Given the description of an element on the screen output the (x, y) to click on. 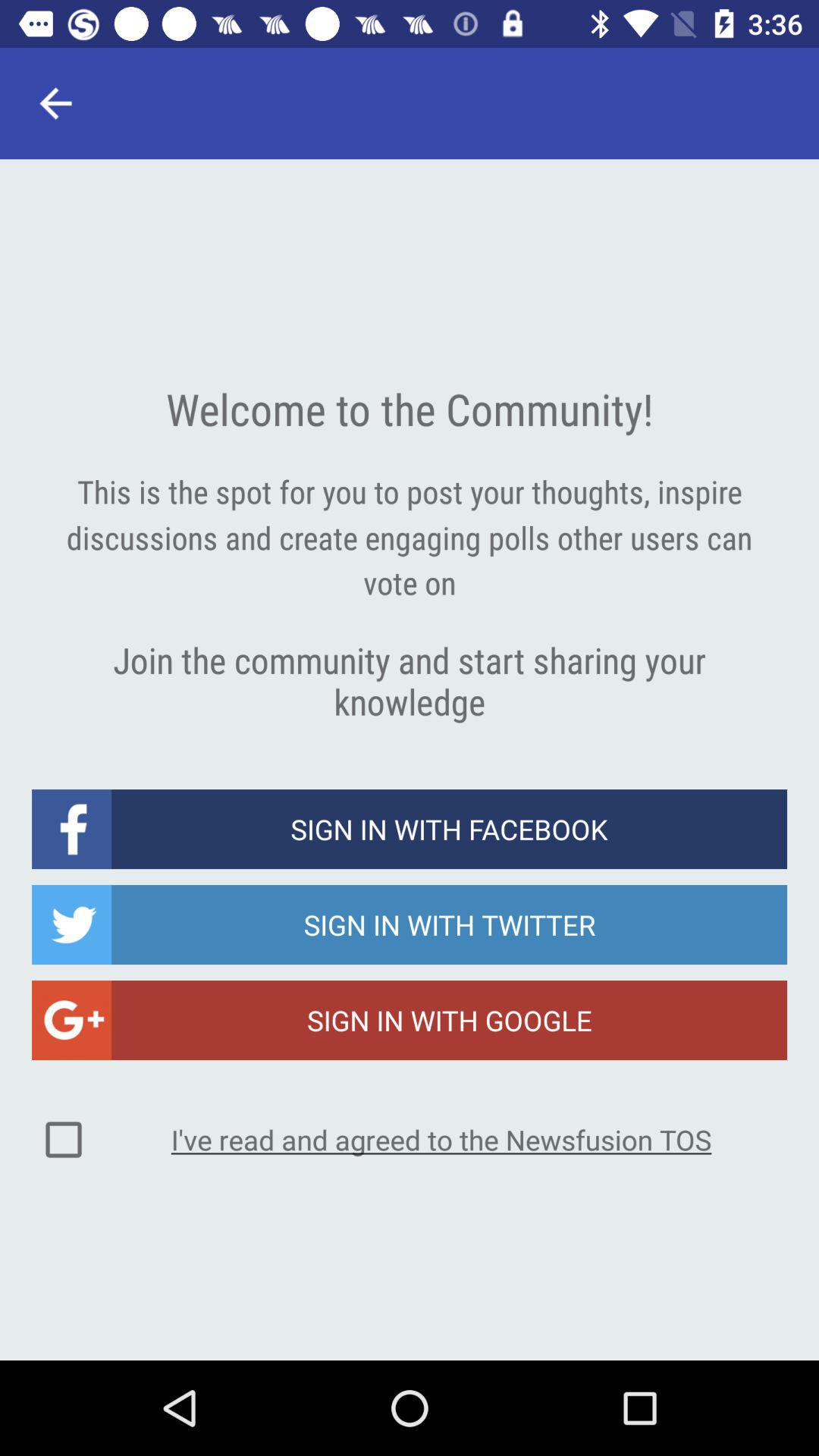
select the item above the welcome to the (55, 103)
